Given the description of an element on the screen output the (x, y) to click on. 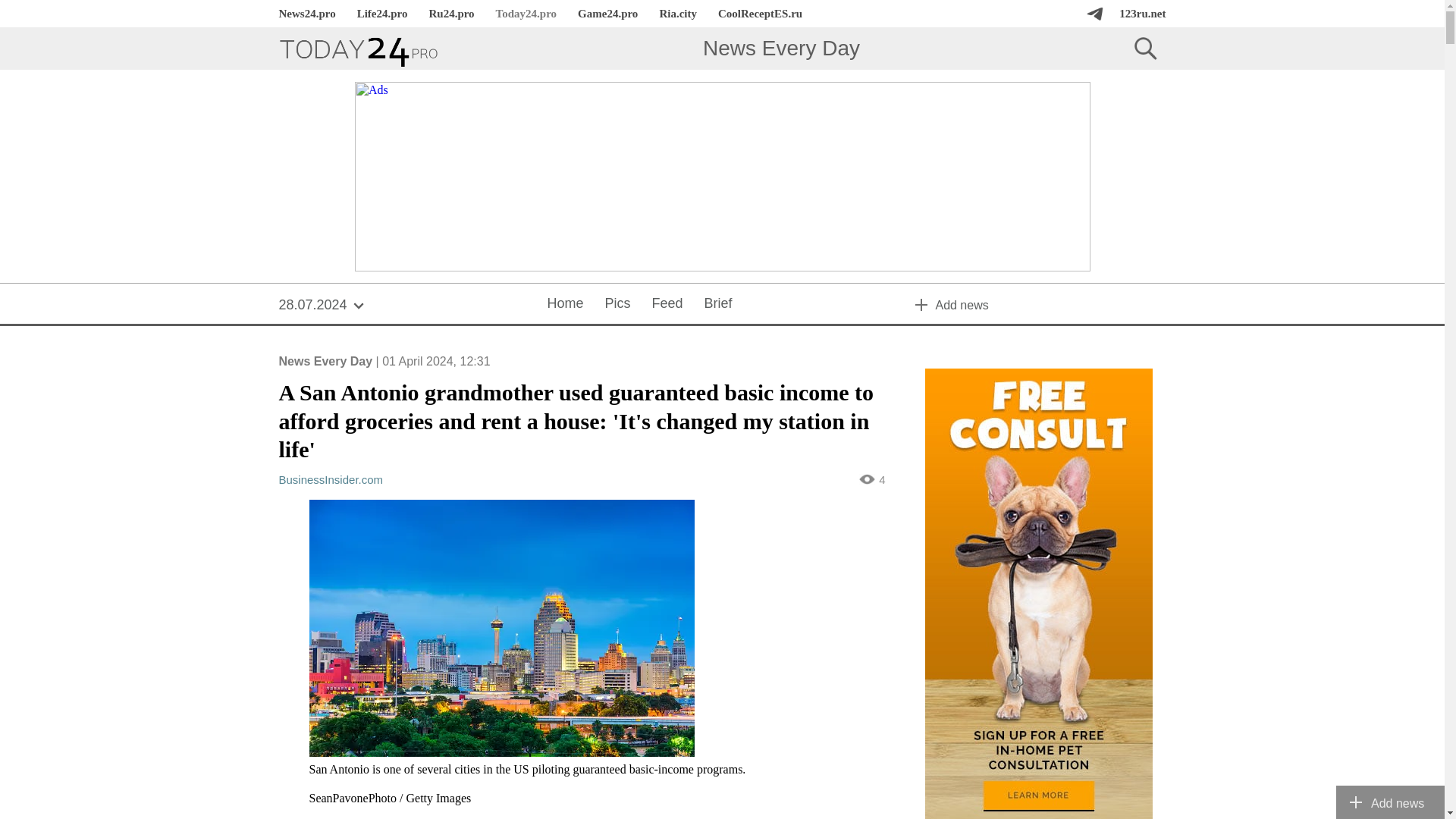
28.07.2024 (321, 304)
News24.pro (306, 13)
Pics (618, 304)
Ria.city (677, 13)
Game24.pro (607, 13)
Home (564, 304)
Life24.pro (382, 13)
CoolReceptES.ru (759, 13)
Add news (1040, 304)
123ru.net (1142, 13)
Ru24.pro (450, 13)
Feed (668, 304)
Brief (718, 304)
Today24.pro (525, 13)
